Given the description of an element on the screen output the (x, y) to click on. 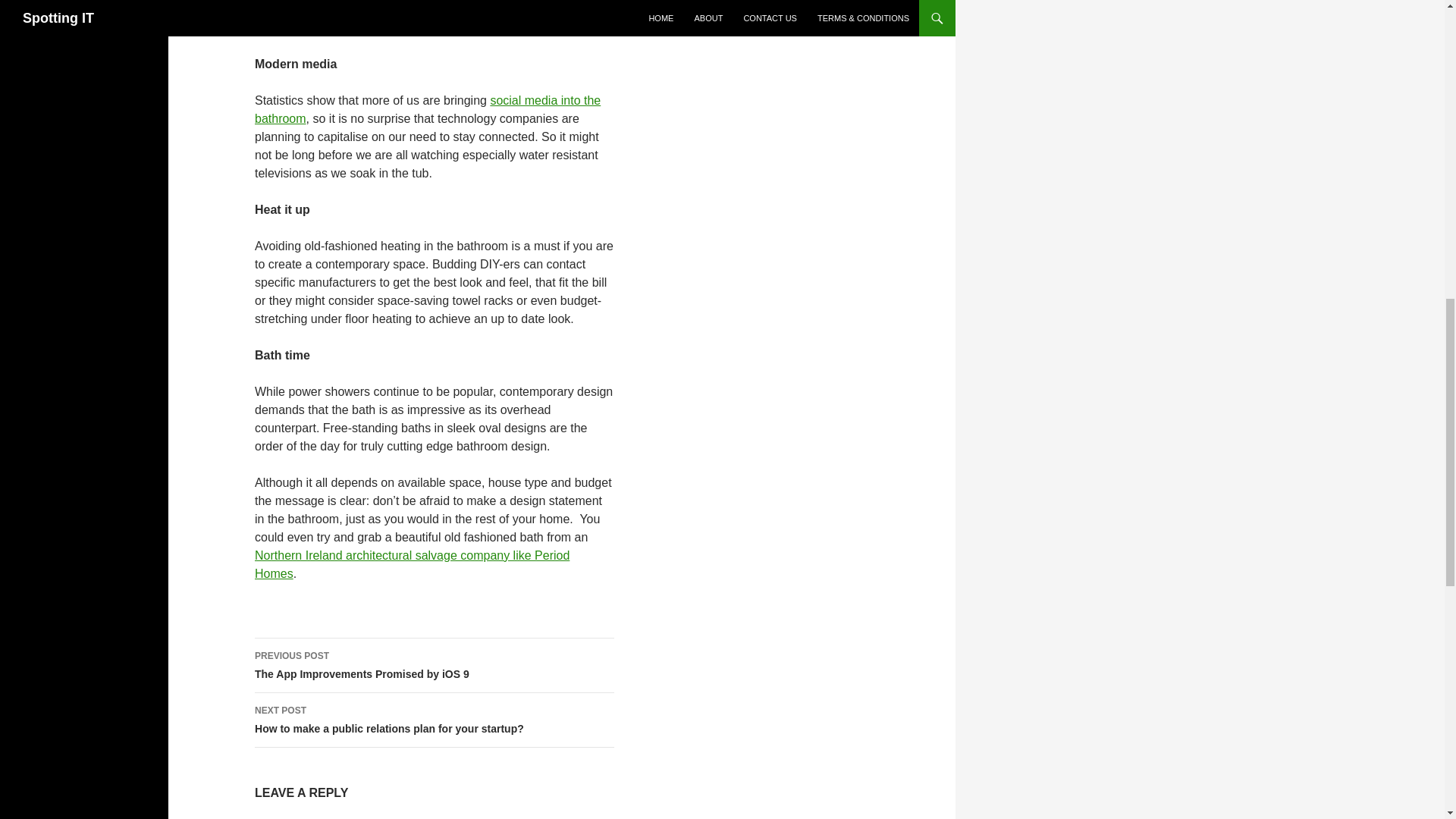
social media into the bathroom (426, 109)
